Given the description of an element on the screen output the (x, y) to click on. 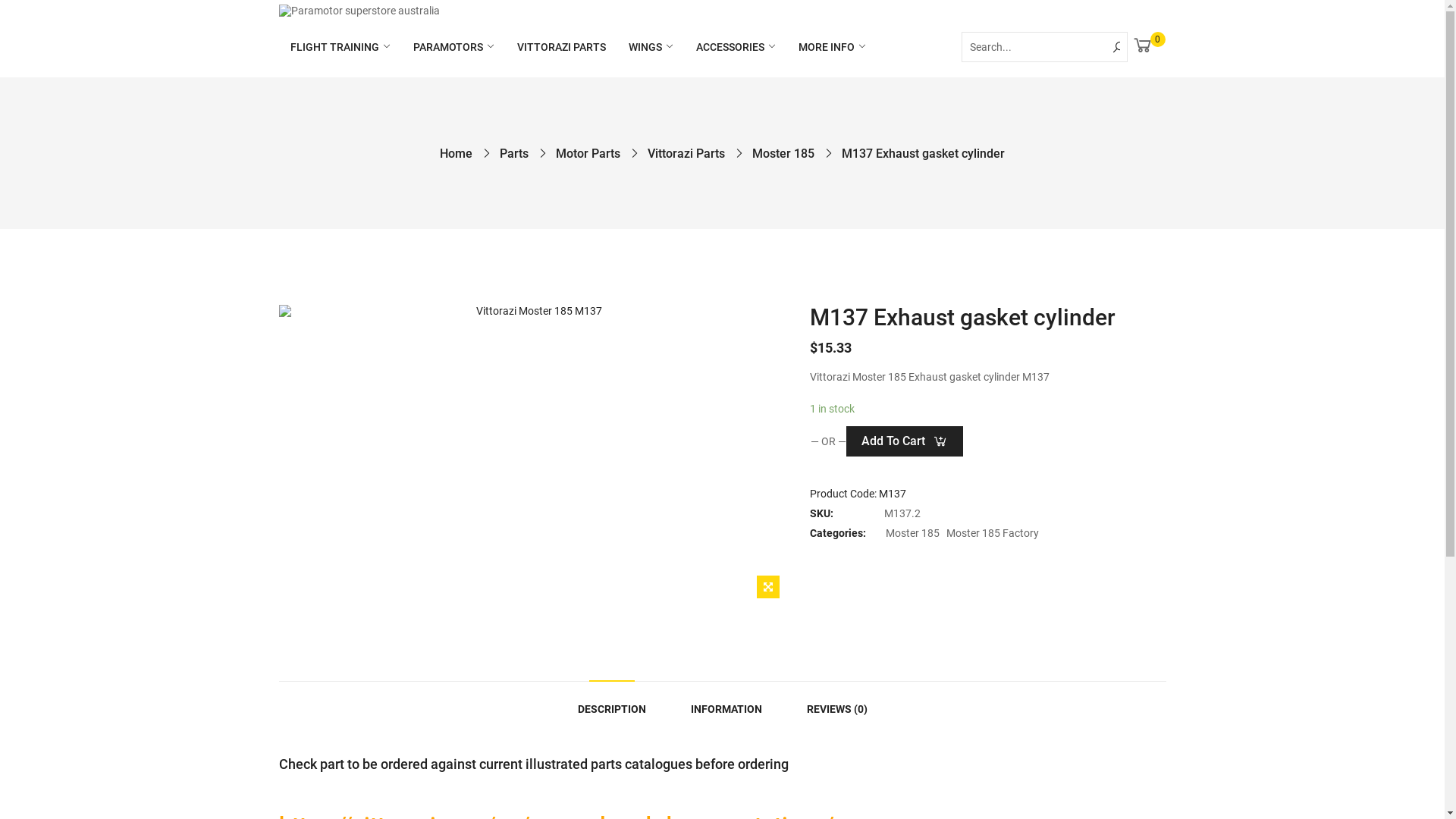
ACCESSORIES Element type: text (735, 46)
VITTORAZI PARTS Element type: text (561, 46)
WINGS Element type: text (649, 46)
MORE INFO Element type: text (831, 46)
Moster 185 Element type: text (912, 533)
Motor Parts Element type: text (587, 153)
Parts Element type: text (513, 153)
Vittorazi Parts Element type: text (685, 153)
Moster 185 Factory Element type: text (992, 533)
Secure payment input frame Element type: hover (809, 448)
Add To Cart Element type: text (904, 441)
REVIEWS (0) Element type: text (836, 708)
DESCRIPTION Element type: text (611, 708)
FLIGHT TRAINING Element type: text (339, 46)
Home Element type: text (455, 153)
0 Element type: text (1142, 44)
INFORMATION Element type: text (725, 708)
Moster 185 Element type: text (783, 153)
PARAMOTORS Element type: text (452, 46)
